Given the description of an element on the screen output the (x, y) to click on. 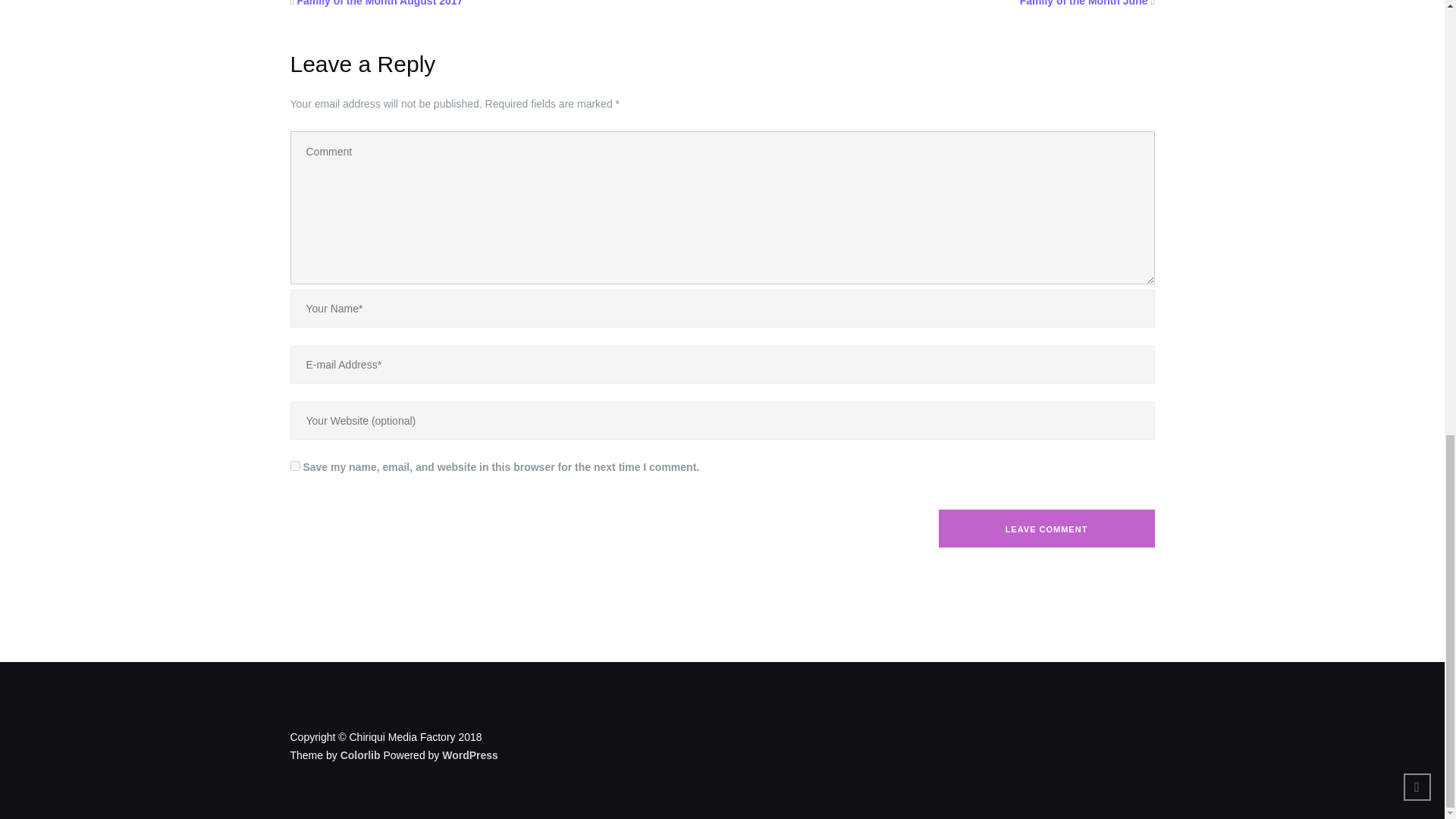
Family of the Month June (1084, 3)
Colorlib (360, 755)
WordPress (469, 755)
Leave Comment (1046, 528)
Leave Comment (1046, 528)
WordPress.org (469, 755)
yes (294, 465)
Family of the Month August 2017 (380, 3)
Colorlib (360, 755)
